Given the description of an element on the screen output the (x, y) to click on. 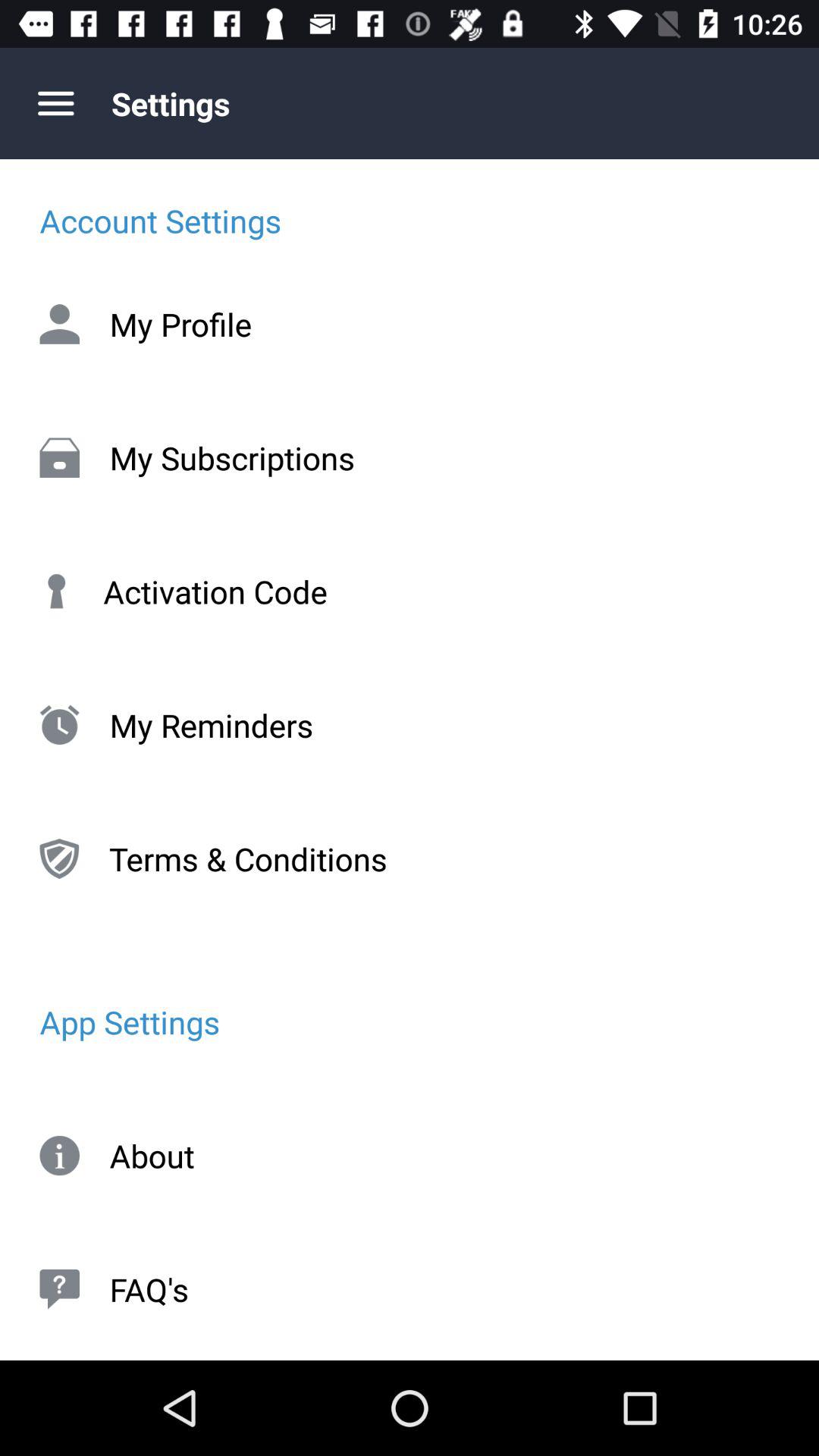
jump until the about icon (409, 1155)
